Given the description of an element on the screen output the (x, y) to click on. 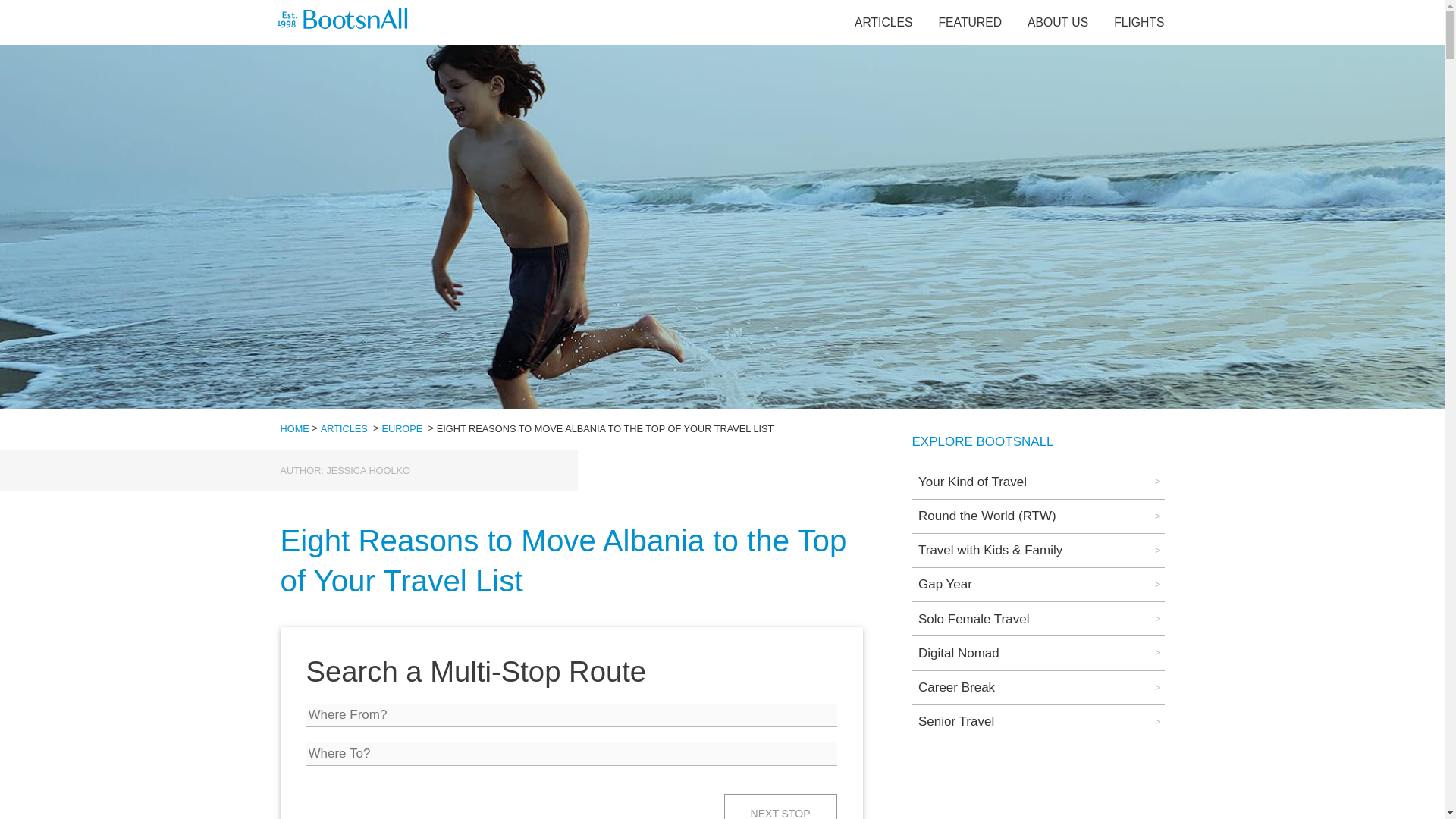
FLIGHTS (1138, 21)
ARTICLES (344, 428)
EUROPE (401, 428)
Gap Year (1037, 584)
ARTICLES (883, 21)
ABOUT US (1057, 21)
Your Kind of Travel (1037, 481)
HOME (294, 428)
NEXT STOP (780, 806)
FEATURED (971, 21)
